Given the description of an element on the screen output the (x, y) to click on. 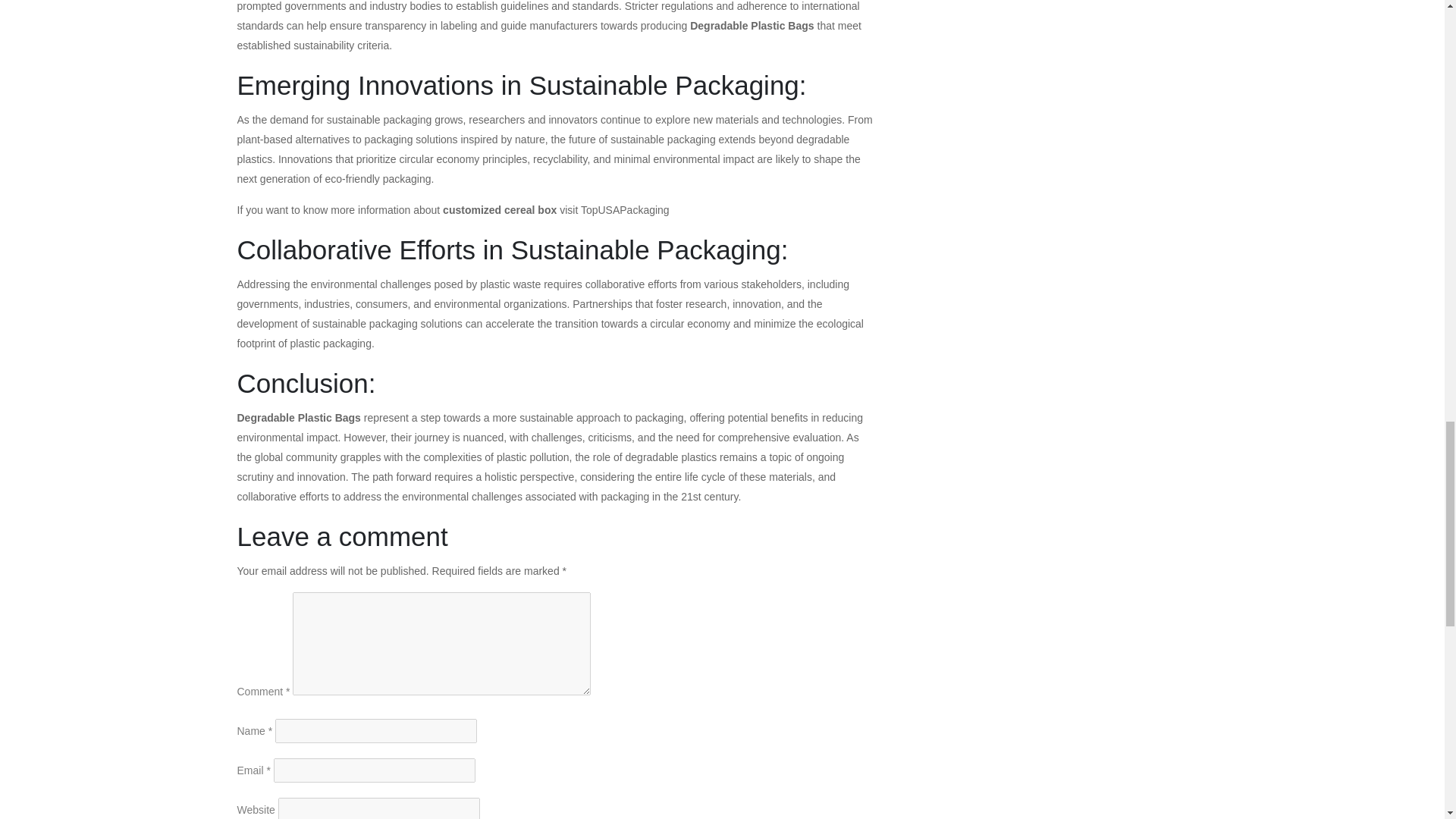
, (574, 476)
customized cereal box (499, 209)
